Given the description of an element on the screen output the (x, y) to click on. 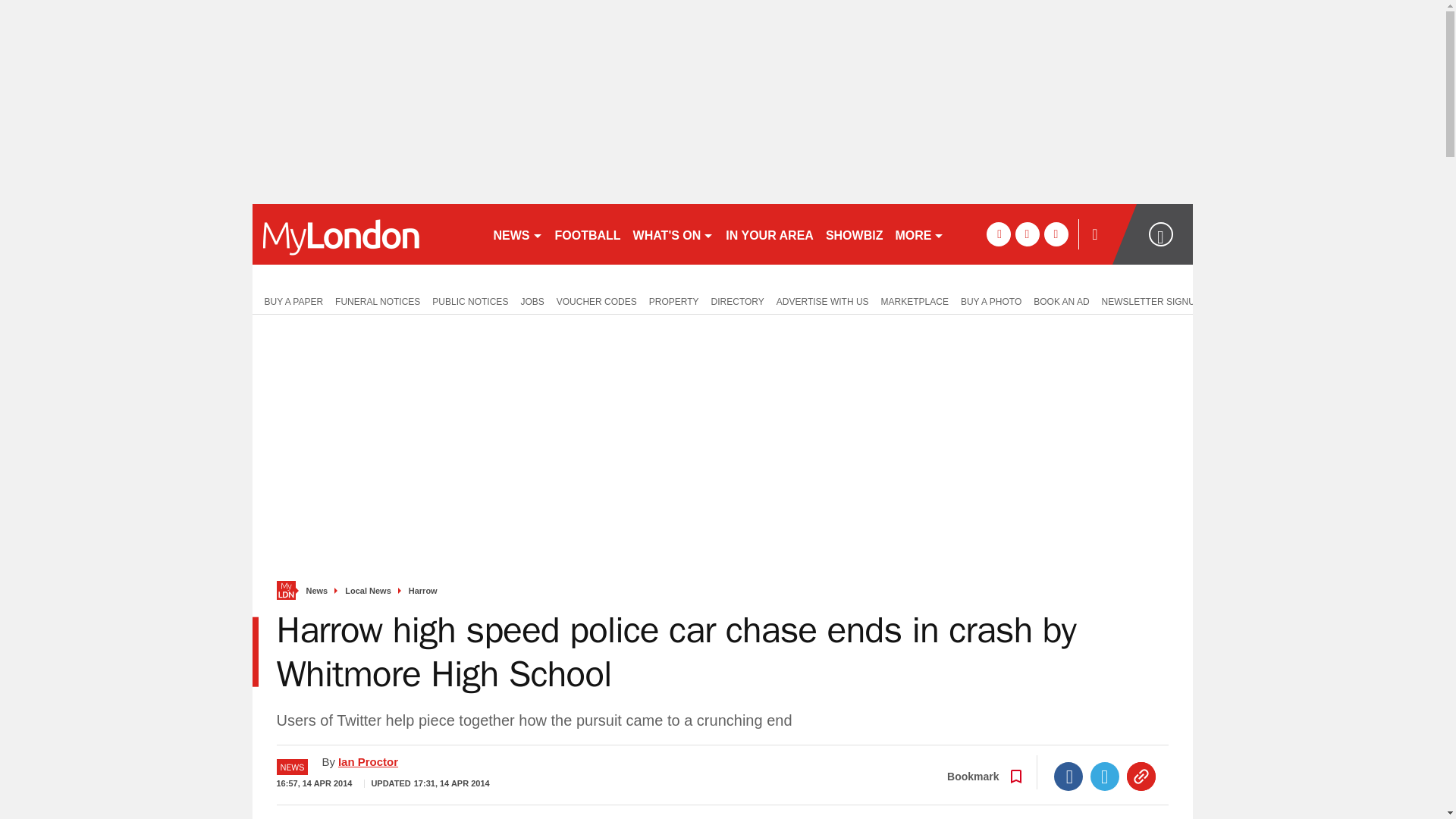
IN YOUR AREA (769, 233)
facebook (997, 233)
MORE (919, 233)
SHOWBIZ (854, 233)
WHAT'S ON (673, 233)
FOOTBALL (587, 233)
twitter (1026, 233)
Twitter (1104, 776)
Facebook (1068, 776)
NEWS (517, 233)
instagram (1055, 233)
getwestlondon (365, 233)
